Given the description of an element on the screen output the (x, y) to click on. 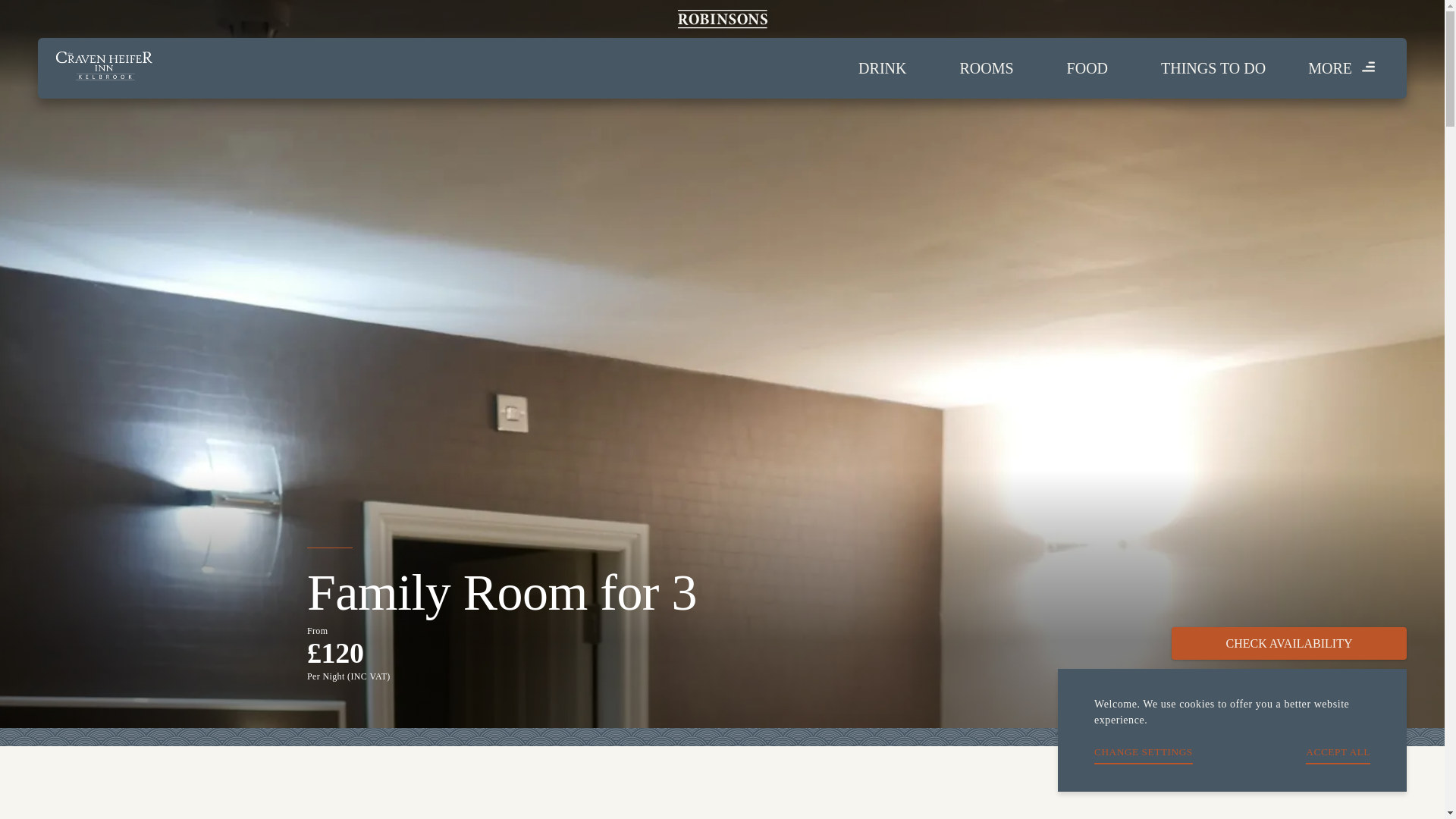
ROOMS (986, 68)
FOOD (1087, 68)
THINGS TO DO (1213, 68)
DRINK (882, 68)
MORE (1342, 68)
